Given the description of an element on the screen output the (x, y) to click on. 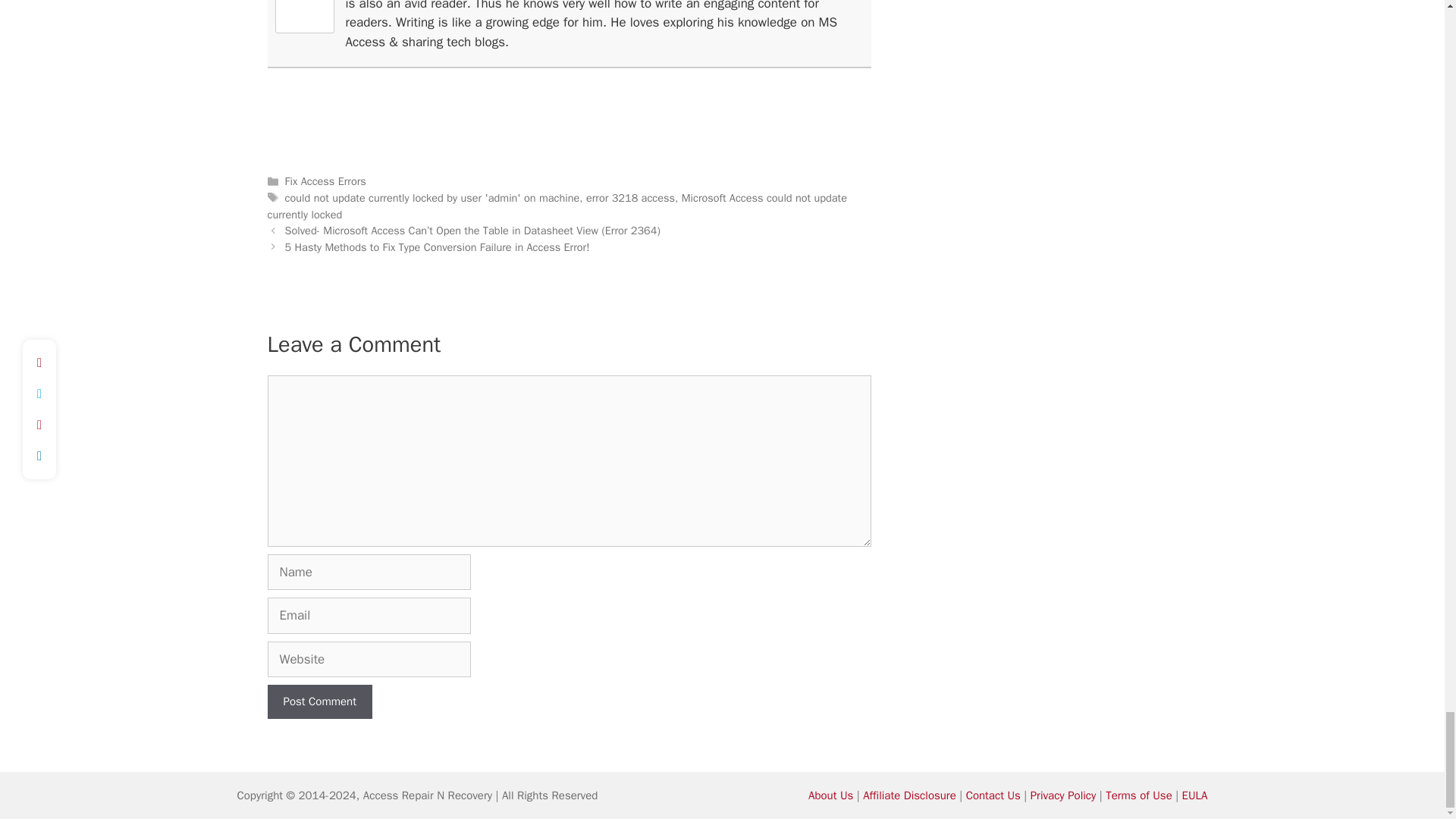
Microsoft Access could not update currently locked (555, 205)
could not update currently locked by user 'admin' on machine (432, 197)
Post Comment (318, 701)
Fix Access Errors (325, 181)
error 3218 access (630, 197)
